Given the description of an element on the screen output the (x, y) to click on. 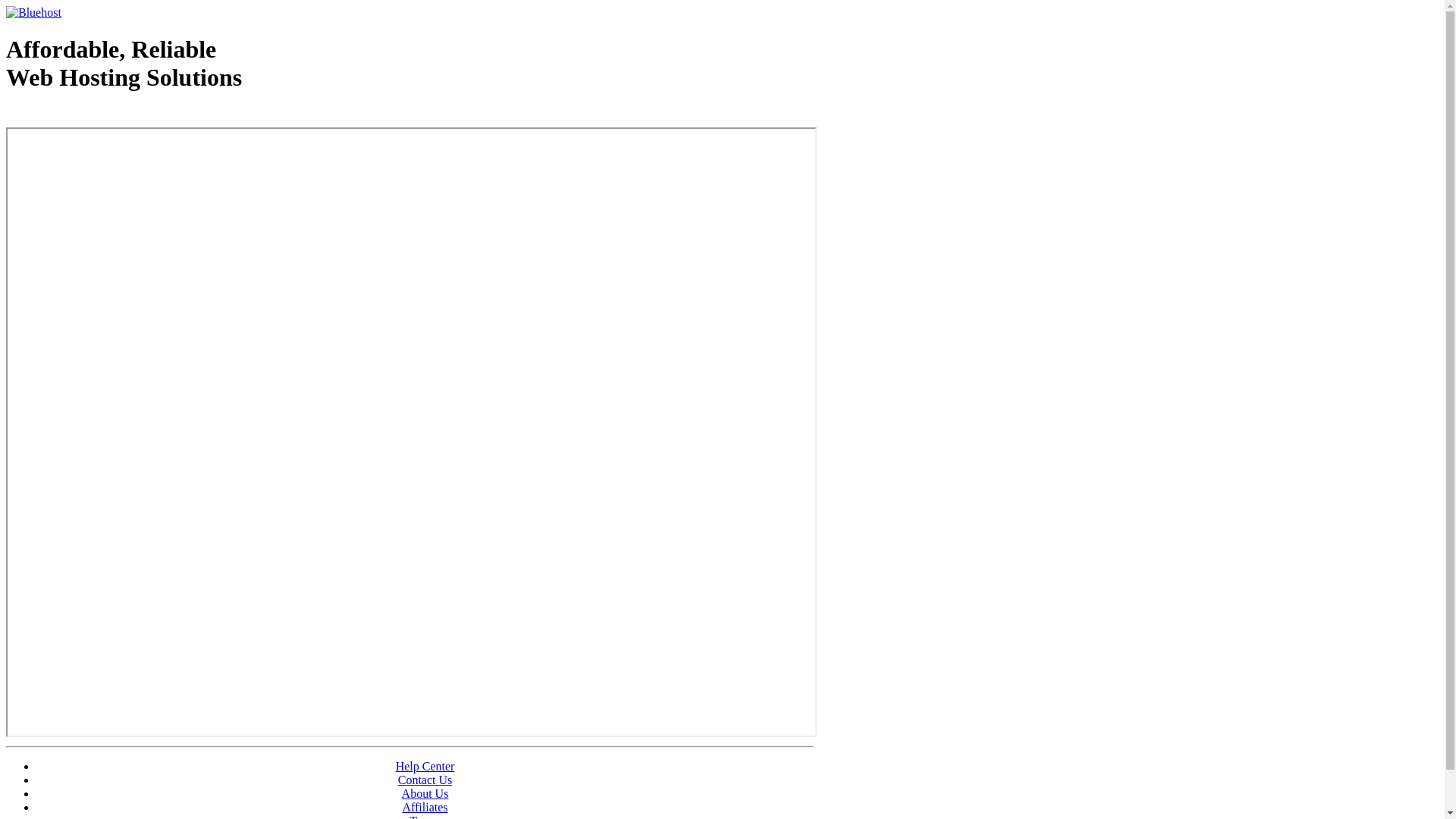
Contact Us Element type: text (425, 779)
About Us Element type: text (424, 793)
Web Hosting - courtesy of www.bluehost.com Element type: text (94, 115)
Affiliates Element type: text (424, 806)
Help Center Element type: text (425, 765)
